Given the description of an element on the screen output the (x, y) to click on. 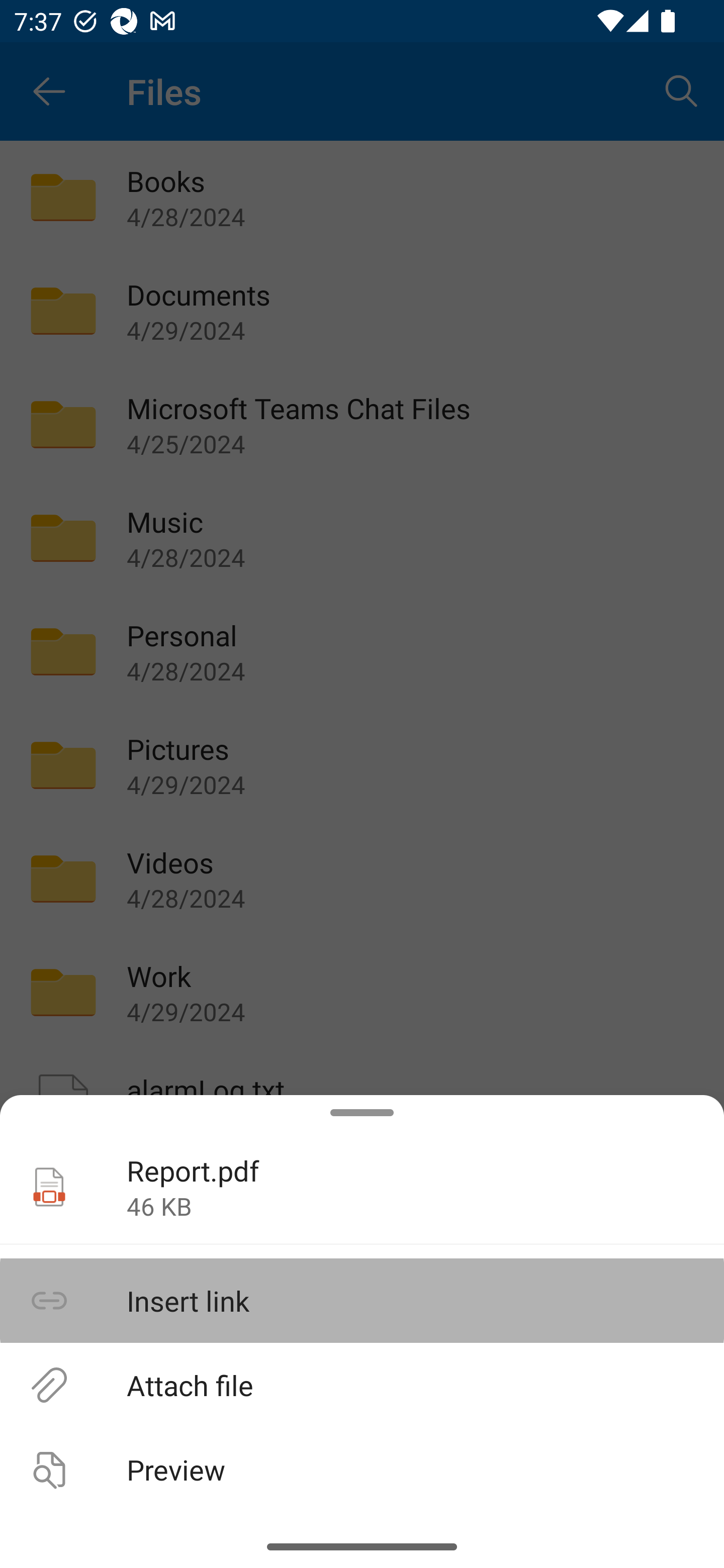
Insert link (362, 1300)
Attach file (362, 1384)
Preview (362, 1468)
